Given the description of an element on the screen output the (x, y) to click on. 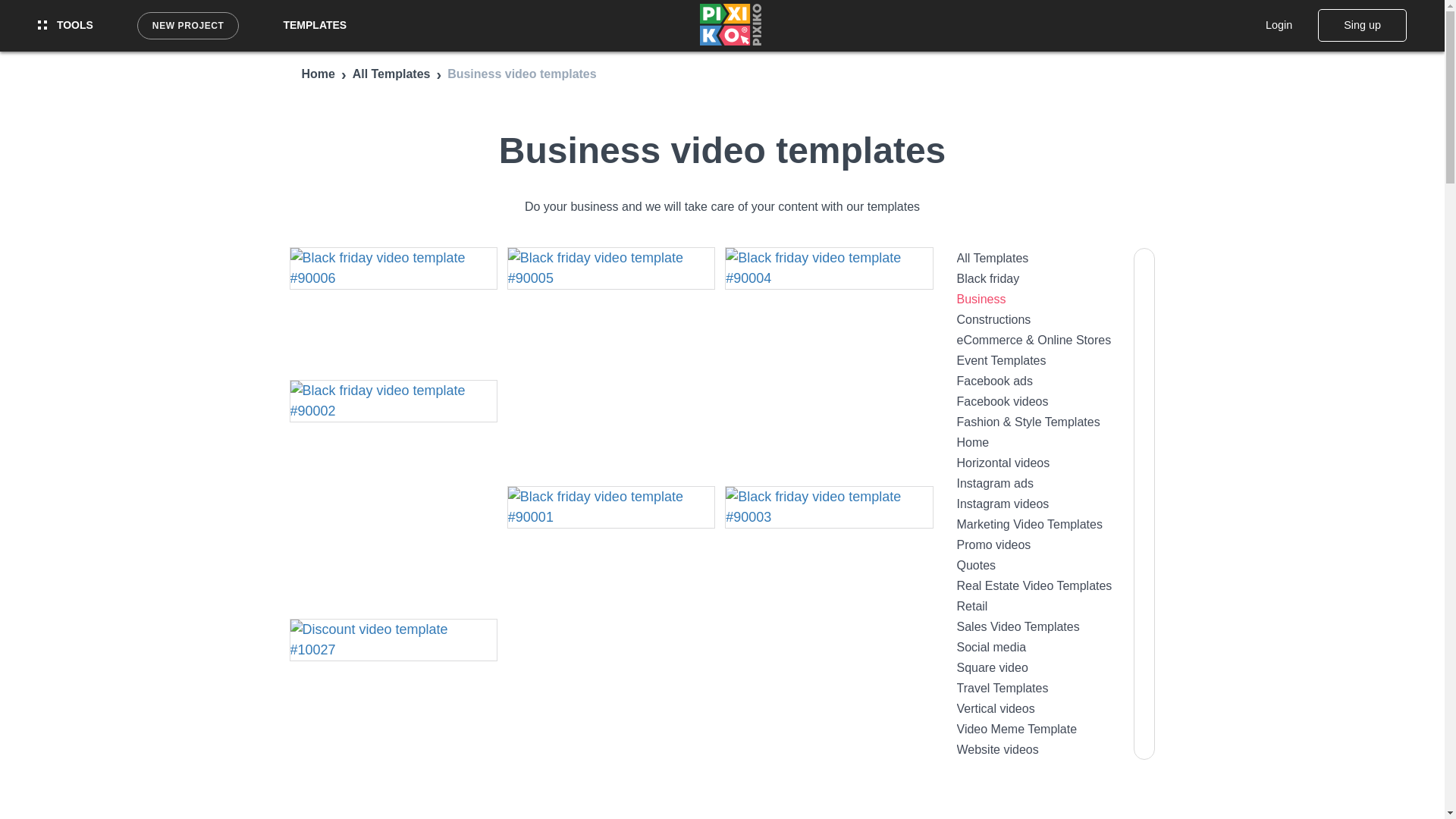
NEW PROJECT (188, 25)
All Templates (391, 73)
Sing up (1361, 24)
Login (1278, 24)
TOOLS (65, 25)
TEMPLATES (314, 25)
Sign up (1361, 24)
Home (317, 73)
Login (1278, 24)
